Given the description of an element on the screen output the (x, y) to click on. 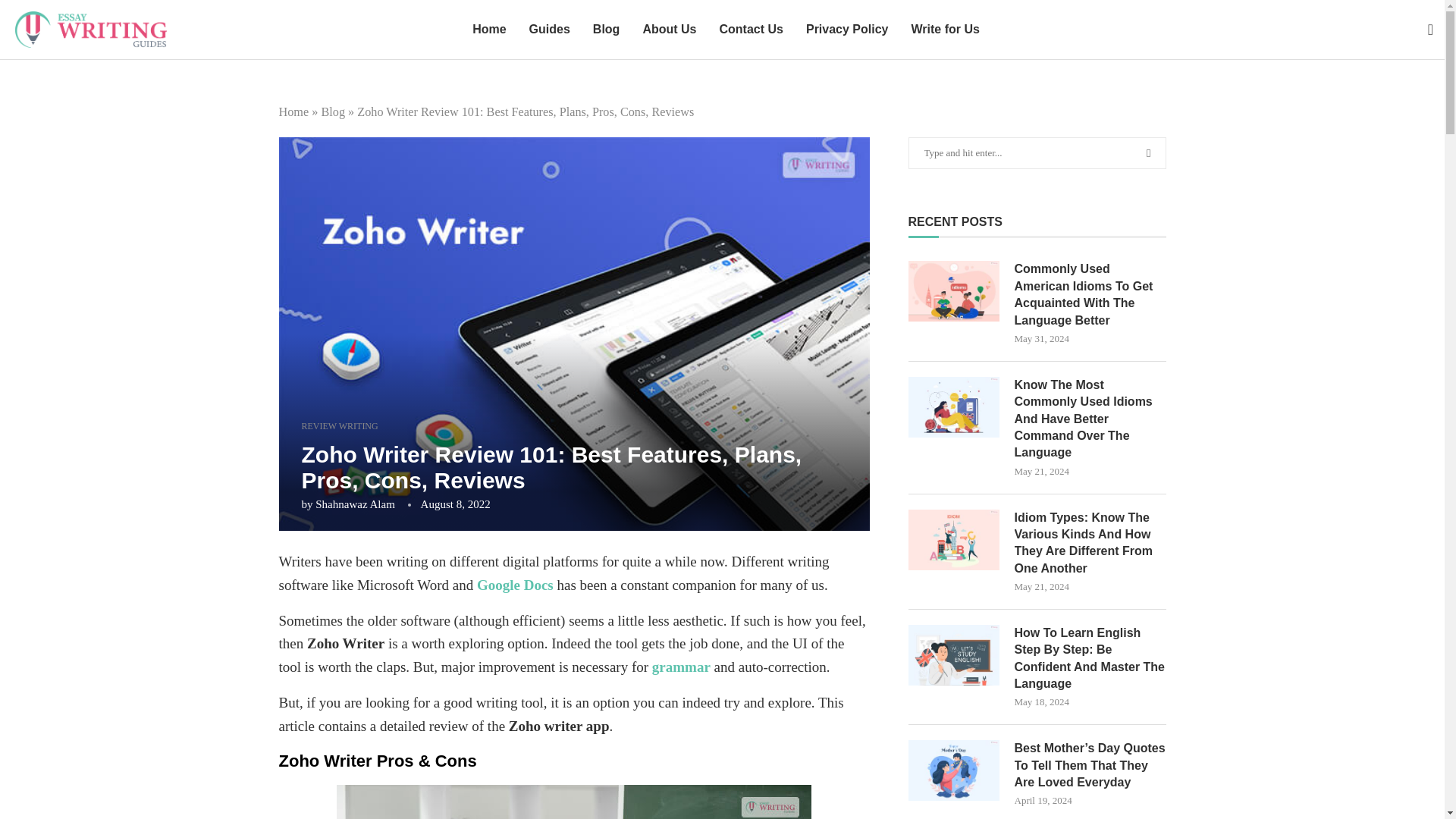
Blog (332, 111)
Contact Us (751, 29)
Home (293, 111)
REVIEW WRITING (339, 425)
Write for Us (944, 29)
About Us (668, 29)
Guides (549, 29)
Privacy Policy (847, 29)
